Given the description of an element on the screen output the (x, y) to click on. 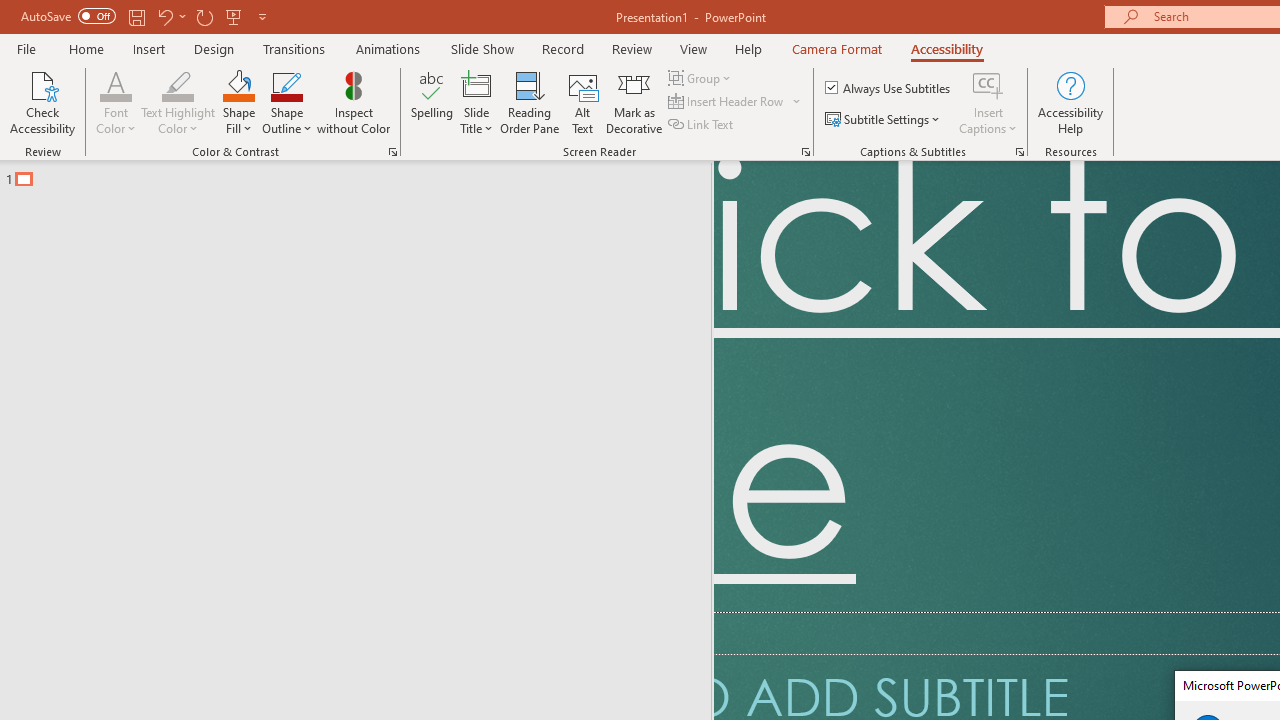
Slide Title (476, 84)
Always Use Subtitles (889, 87)
Camera Format (836, 48)
Accessibility Help (1070, 102)
Screen Reader (805, 151)
Color & Contrast (392, 151)
Insert Header Row (735, 101)
Insert Captions (988, 84)
